Given the description of an element on the screen output the (x, y) to click on. 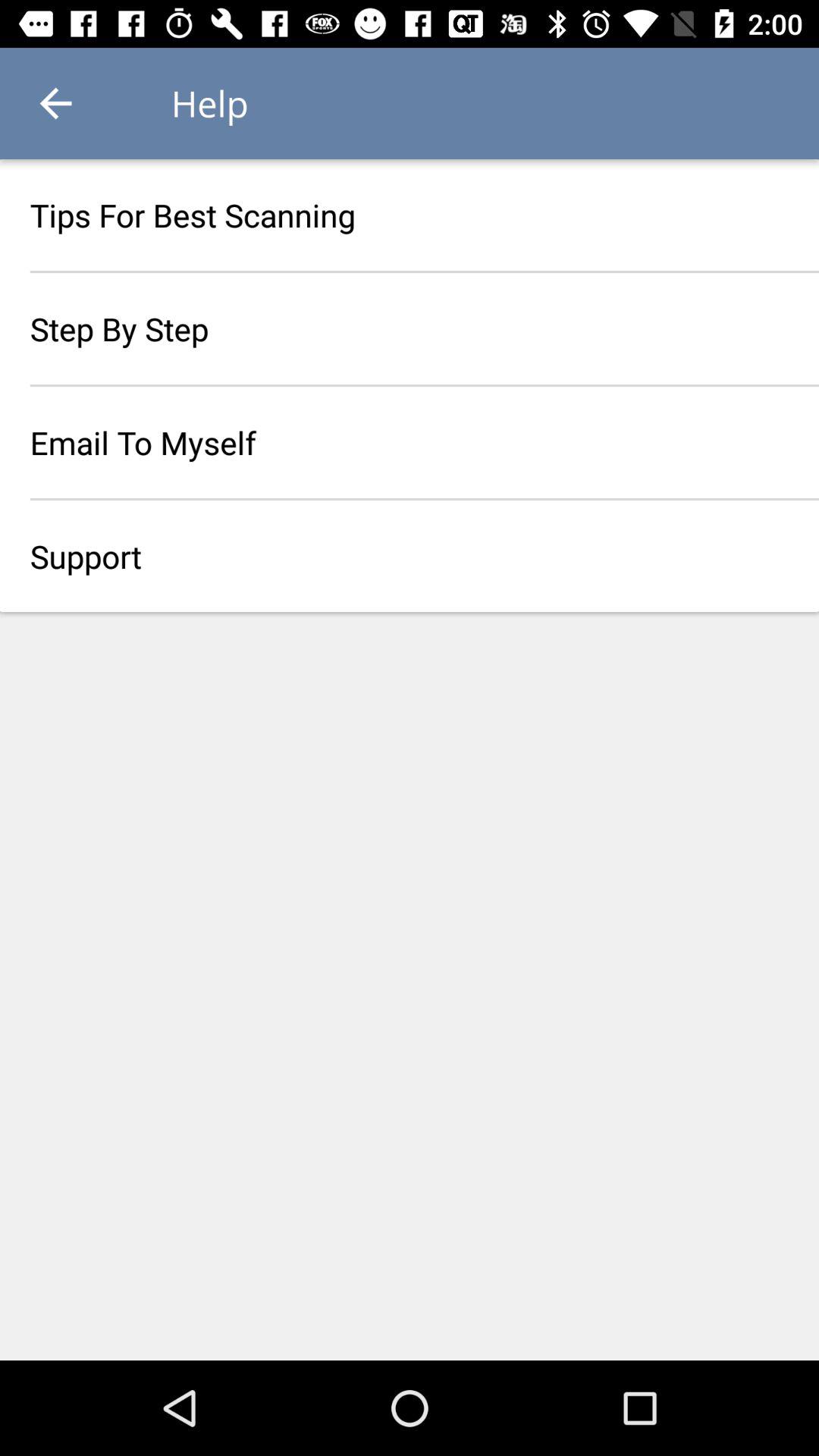
tap item below the step by step icon (409, 442)
